Given the description of an element on the screen output the (x, y) to click on. 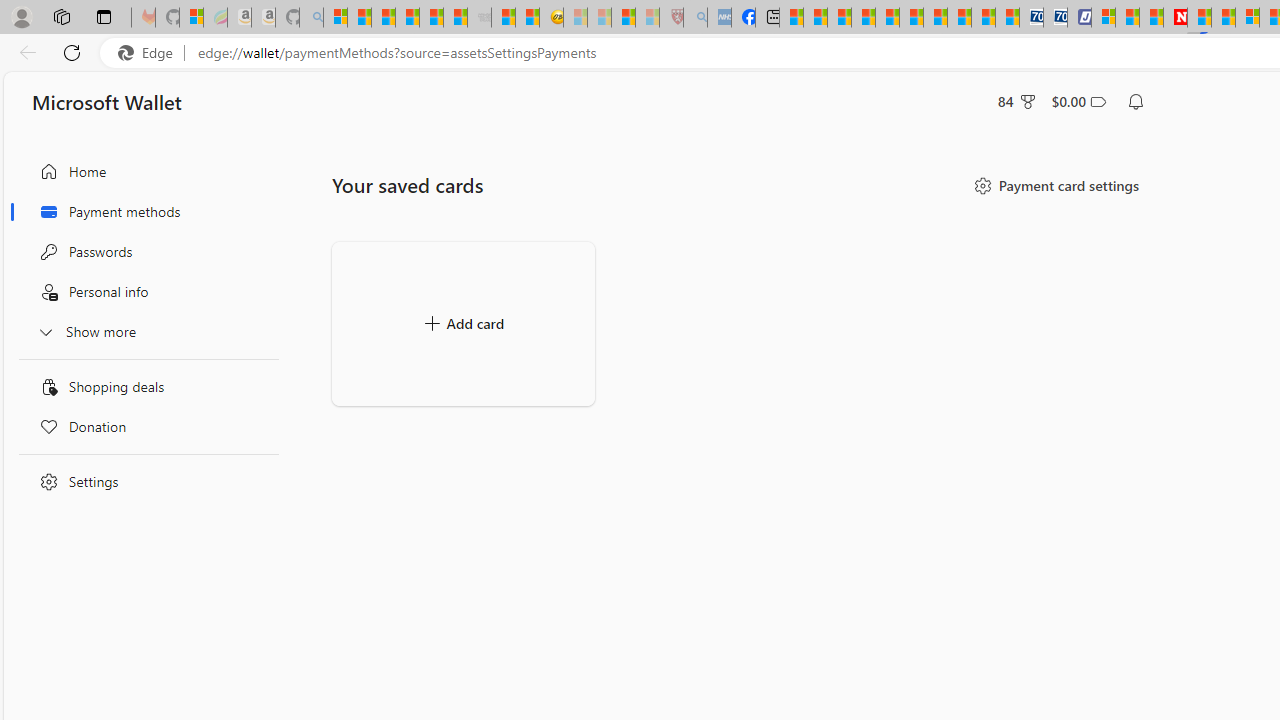
Combat Siege - Sleeping (479, 17)
Notification (1136, 101)
Donation (143, 426)
Passwords (143, 252)
Class: ___1lmltc5 f1agt3bx f12qytpq (1098, 101)
Climate Damage Becomes Too Severe To Reverse (863, 17)
New Report Confirms 2023 Was Record Hot | Watch (430, 17)
